Given the description of an element on the screen output the (x, y) to click on. 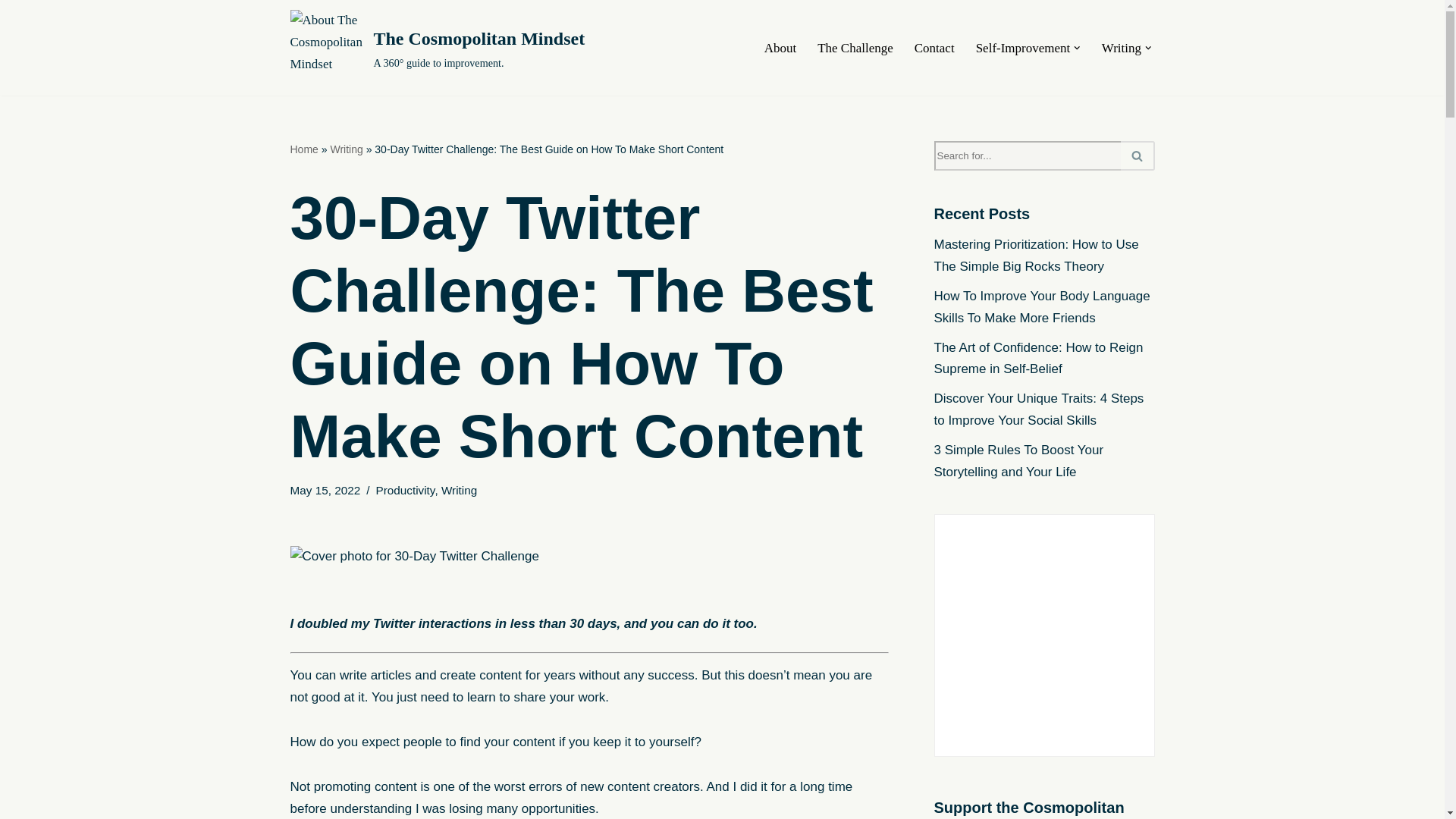
Writing (346, 149)
The Challenge (854, 47)
Home (303, 149)
Self-Improvement (1022, 47)
Writing (1121, 47)
About (780, 47)
Productivity (404, 490)
Skip to content (11, 31)
Writing (459, 490)
Contact (934, 47)
